Given the description of an element on the screen output the (x, y) to click on. 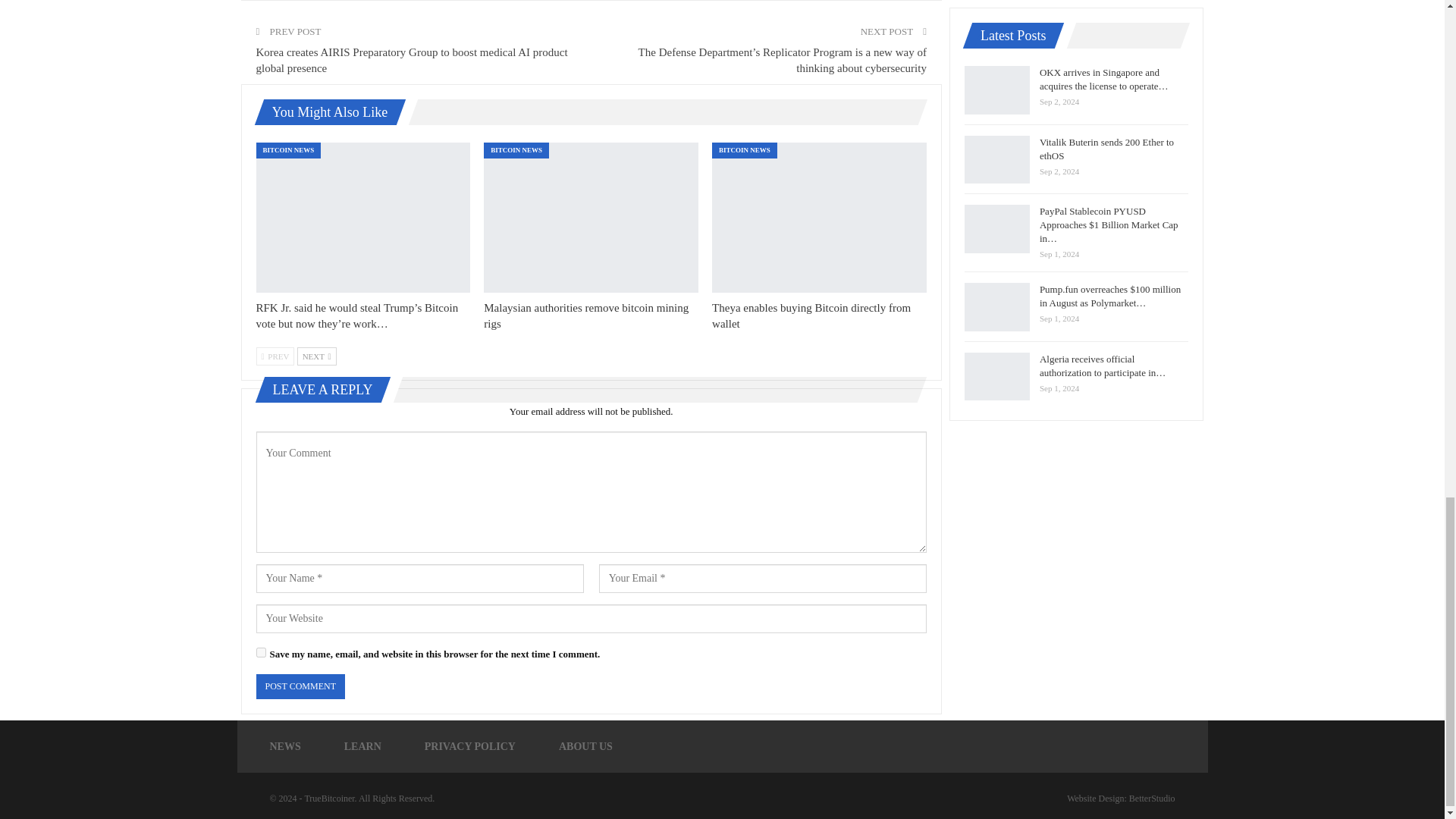
Theya enables buying Bitcoin directly from wallet (811, 316)
Post Comment (300, 686)
Malaysian authorities remove bitcoin mining rigs (590, 217)
yes (261, 652)
Previous (275, 356)
Malaysian authorities remove bitcoin mining rigs (585, 316)
Theya enables buying Bitcoin directly from wallet (818, 217)
